Given the description of an element on the screen output the (x, y) to click on. 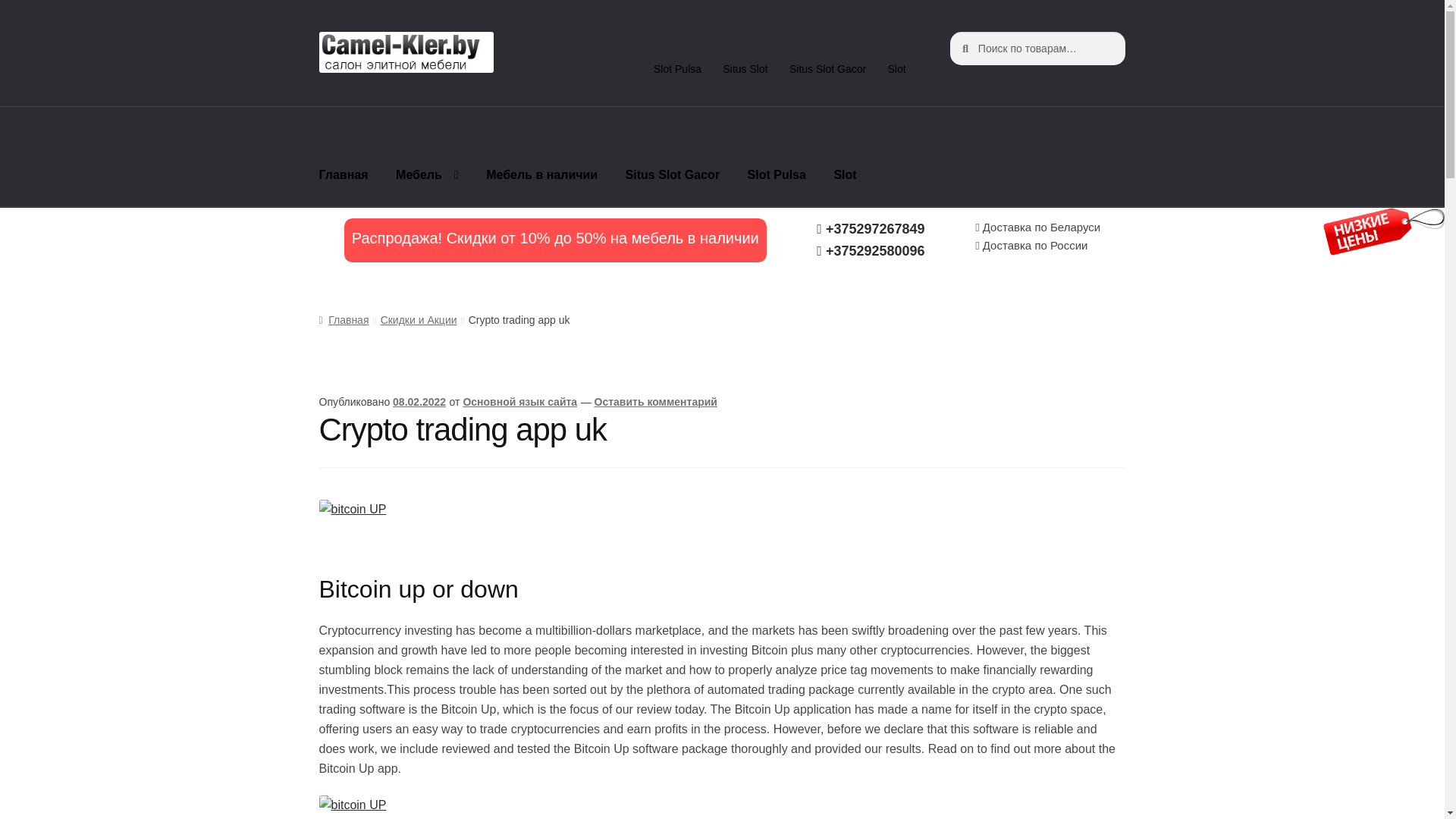
Slot (896, 69)
Slot Pulsa (678, 69)
Situs Slot (745, 69)
Situs Slot Gacor (672, 174)
Slot Pulsa (776, 174)
Situs Slot Gacor (828, 69)
Slot (844, 174)
